Given the description of an element on the screen output the (x, y) to click on. 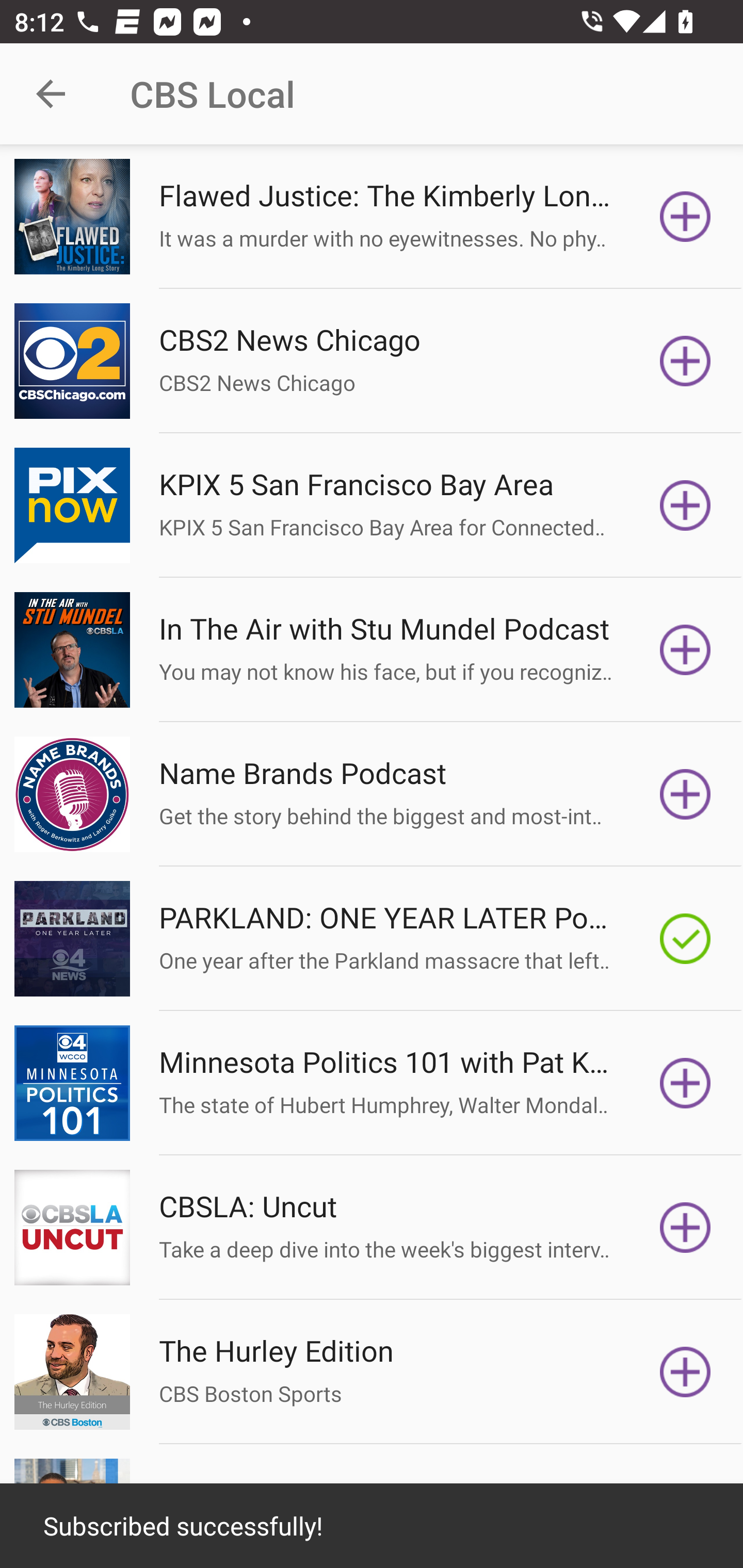
Navigate up (50, 93)
Subscribe (685, 216)
Subscribe (685, 360)
Subscribe (685, 505)
Subscribe (685, 649)
Subscribe (685, 793)
Subscribed (685, 939)
Subscribe (685, 1083)
Subscribe (685, 1227)
Subscribe (685, 1371)
Subscribed successfully! (371, 1525)
